Given the description of an element on the screen output the (x, y) to click on. 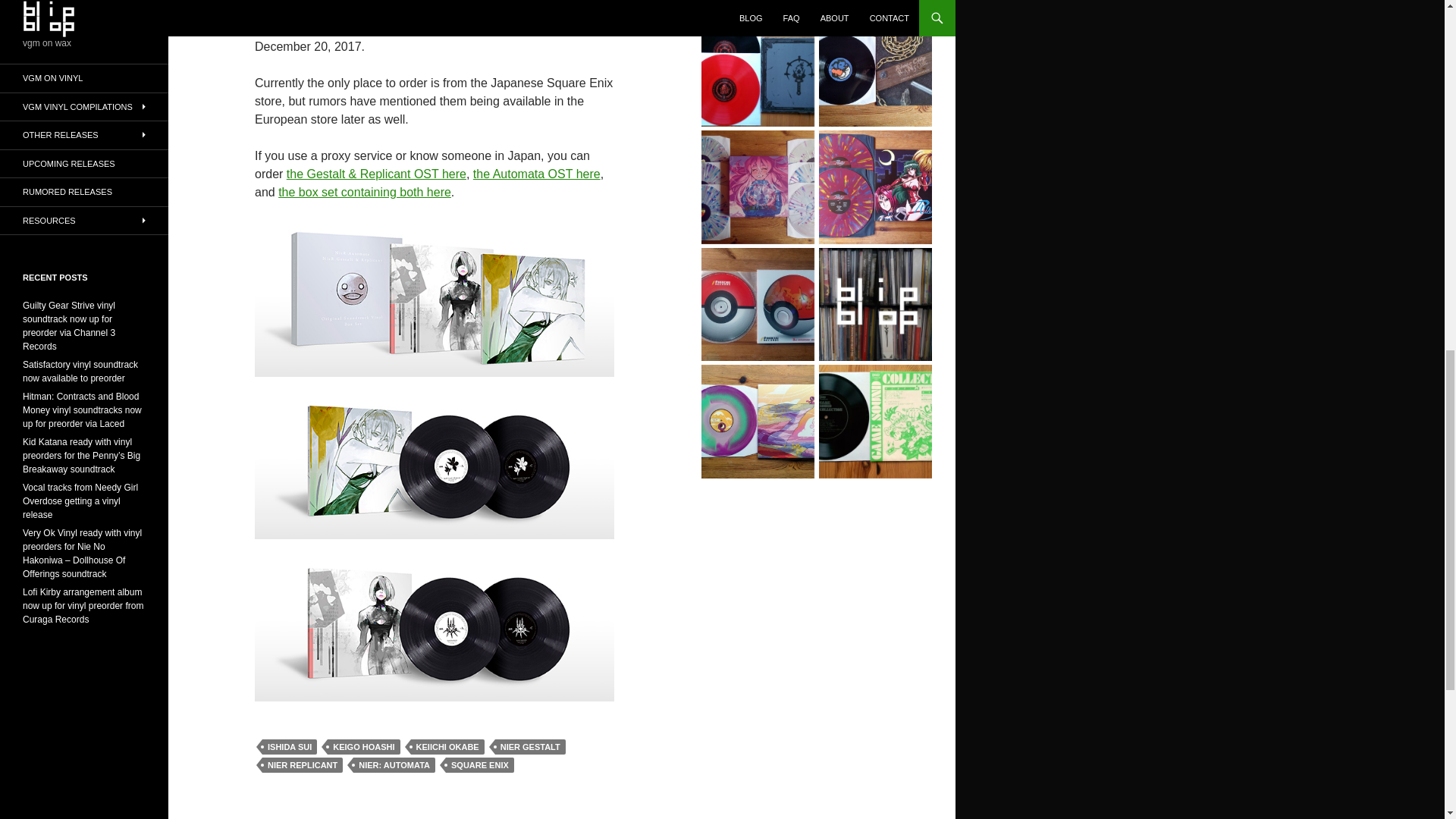
NIER REPLICANT (302, 765)
KEIGO HOASHI (362, 746)
ISHIDA SUI (289, 746)
the box set containing both here (364, 192)
the Automata OST here (536, 173)
KEIICHI OKABE (447, 746)
SQUARE ENIX (479, 765)
NIER GESTALT (530, 746)
NIER: AUTOMATA (394, 765)
